Given the description of an element on the screen output the (x, y) to click on. 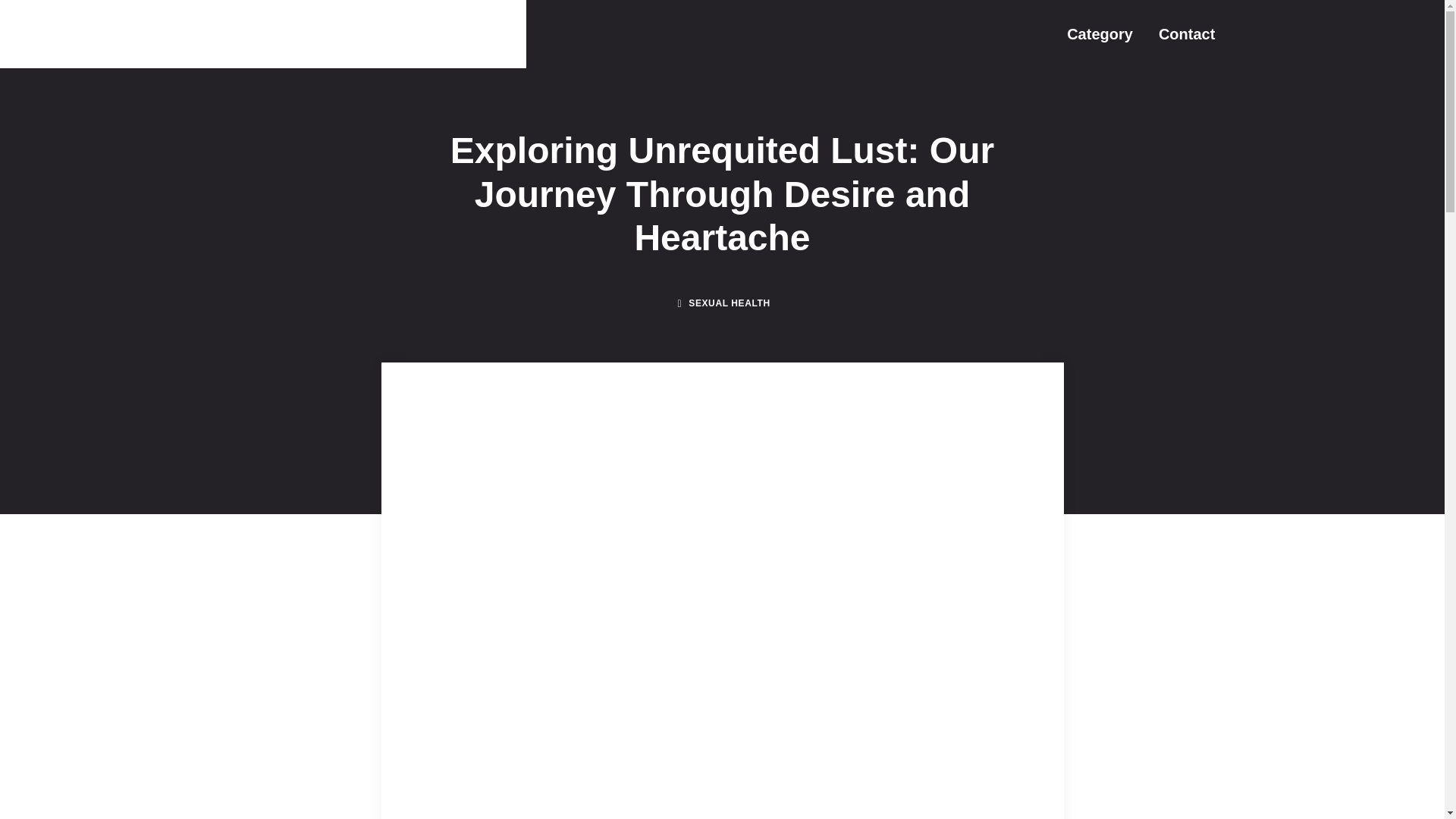
Category (1099, 33)
SEXUAL HEALTH (729, 303)
Contact (1186, 33)
